Given the description of an element on the screen output the (x, y) to click on. 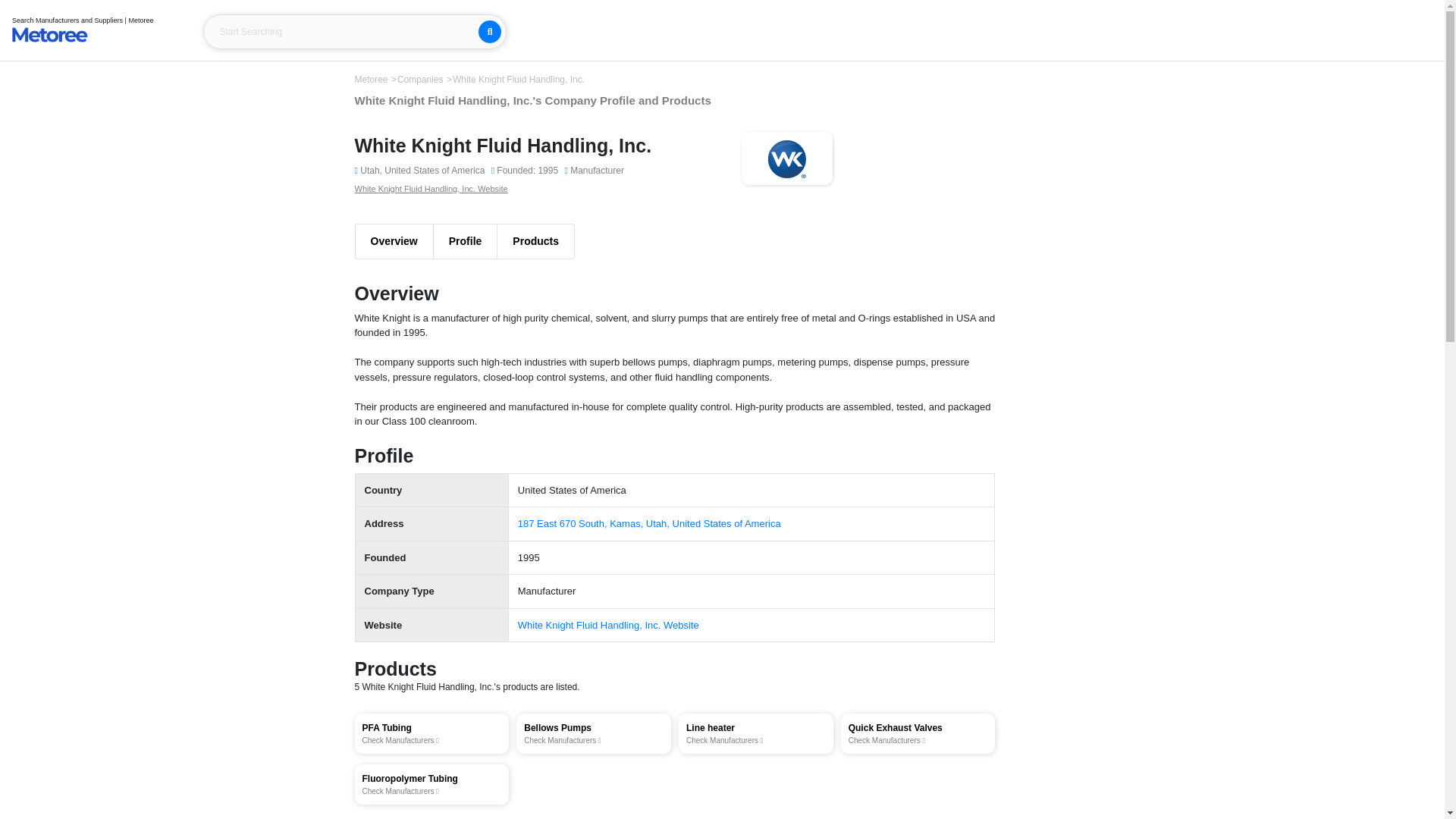
Companies (421, 79)
Overview (392, 241)
White Knight Fluid Handling, Inc. Website (432, 733)
Metoree (431, 187)
Profile (432, 784)
Products (593, 733)
